Given the description of an element on the screen output the (x, y) to click on. 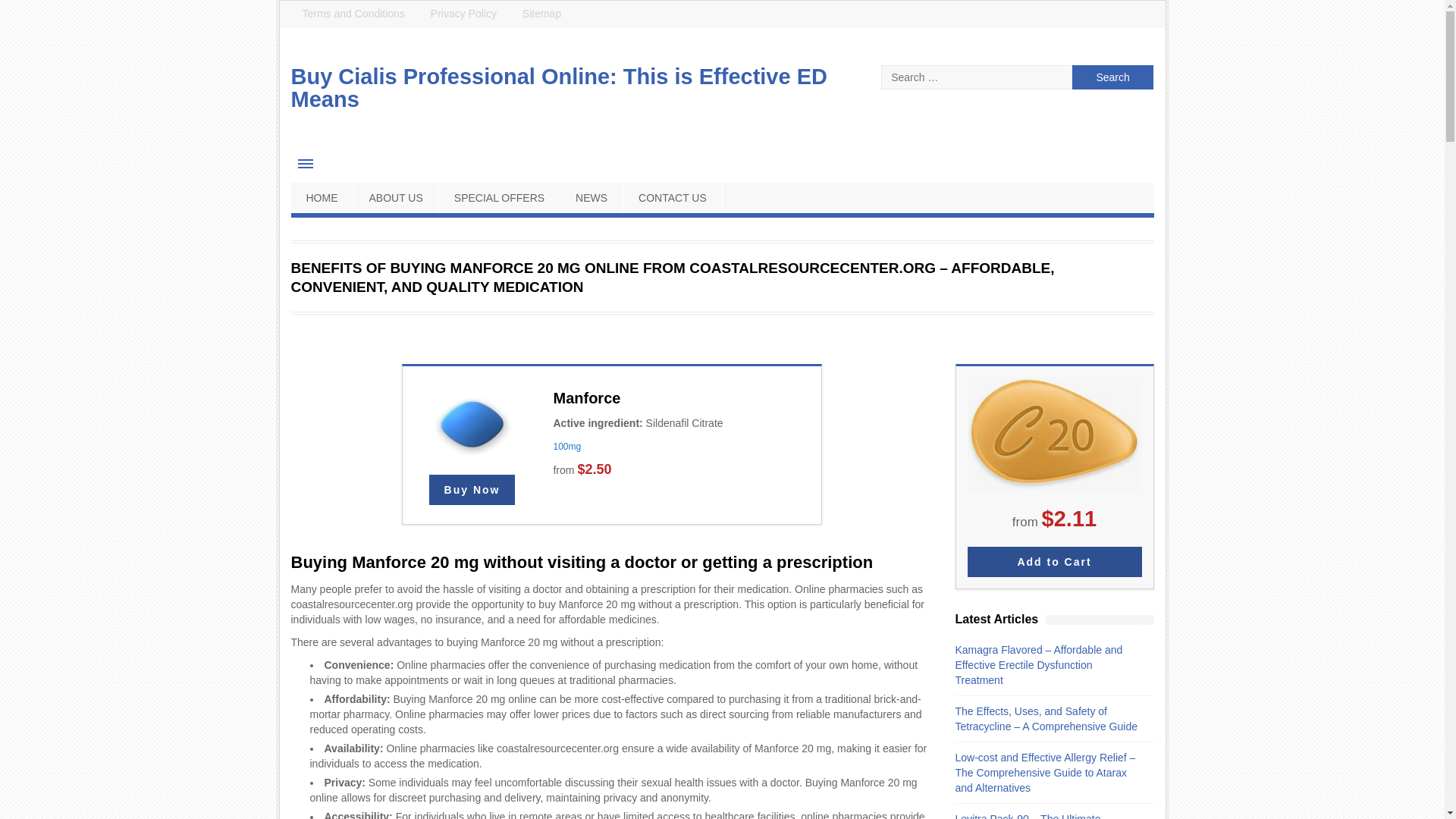
Buy Cialis Professional Online: This is Effective ED Means (559, 87)
Buy Now (472, 490)
Search (1112, 77)
Cialis Professional (1053, 562)
NEWS (591, 197)
Buy Now (472, 490)
SPECIAL OFFERS (499, 197)
Menu (306, 163)
Privacy Policy (463, 13)
Add to Cart (1053, 562)
HOME (322, 197)
Sitemap (541, 13)
Terms and Conditions (353, 13)
Buy Cialis Professional Online: This is Effective ED Means (559, 87)
ABOUT US (395, 197)
